Given the description of an element on the screen output the (x, y) to click on. 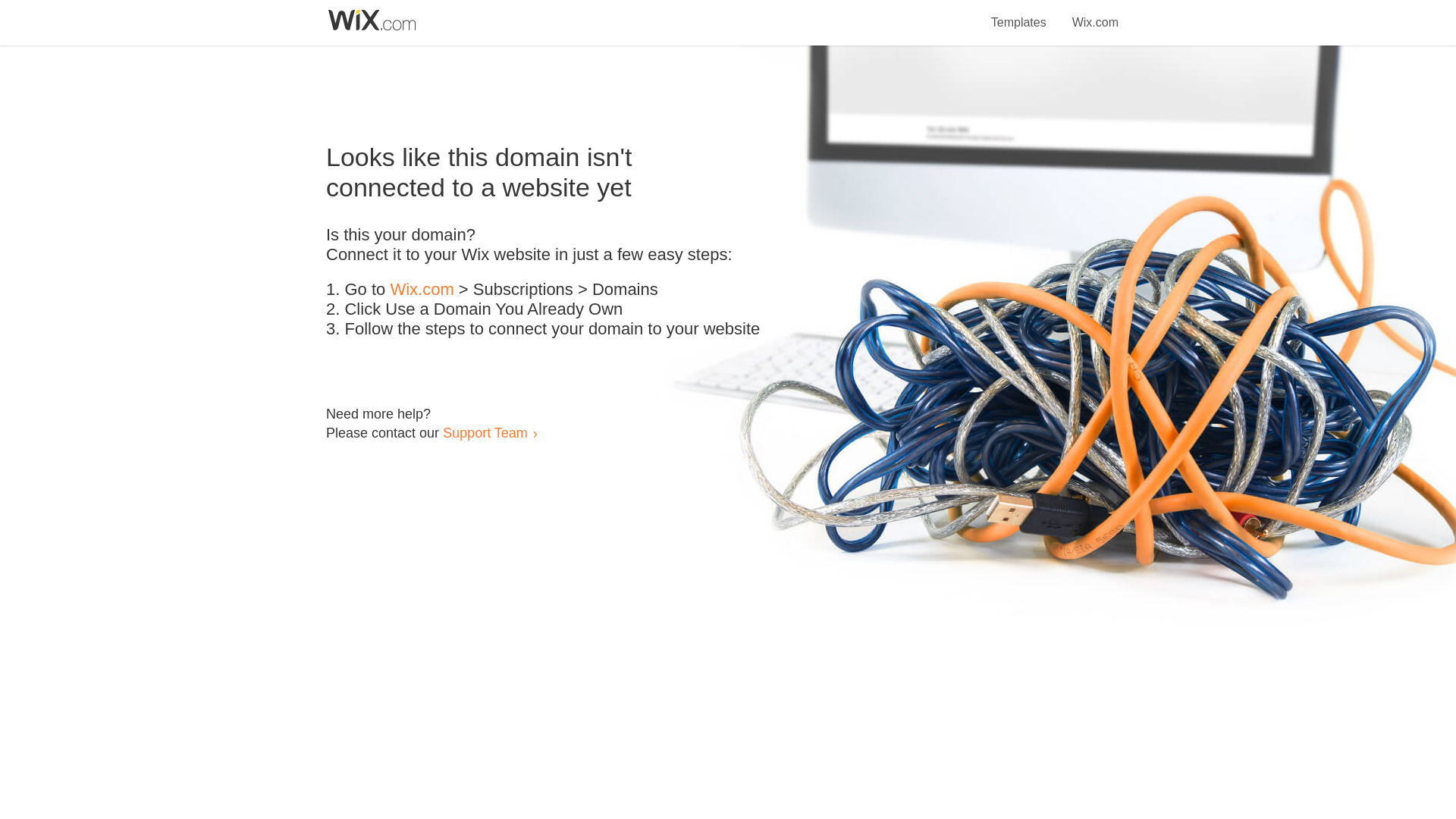
Wix.com (1095, 14)
Support Team (484, 432)
Templates (1018, 14)
Wix.com (421, 289)
